Given the description of an element on the screen output the (x, y) to click on. 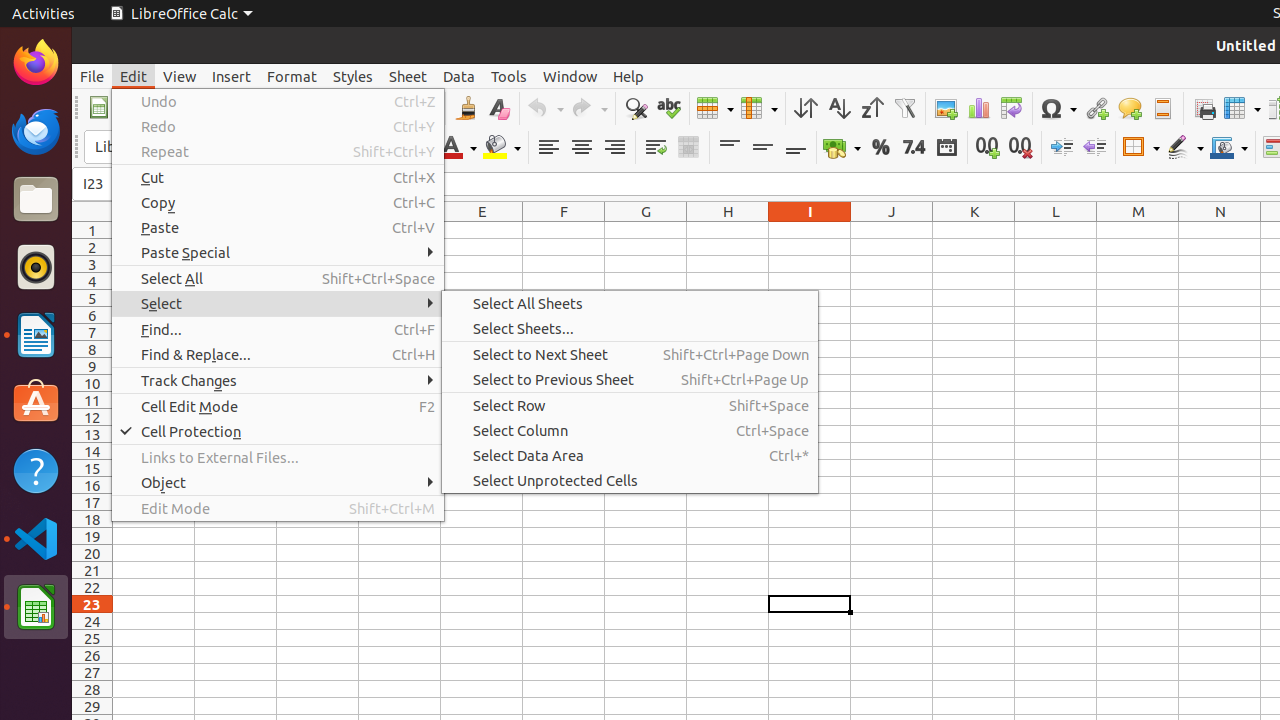
Freeze Rows and Columns Element type: push-button (1242, 108)
Data Element type: menu (459, 76)
Sort Element type: push-button (805, 108)
Spelling Element type: push-button (668, 108)
Number Element type: push-button (913, 147)
